Given the description of an element on the screen output the (x, y) to click on. 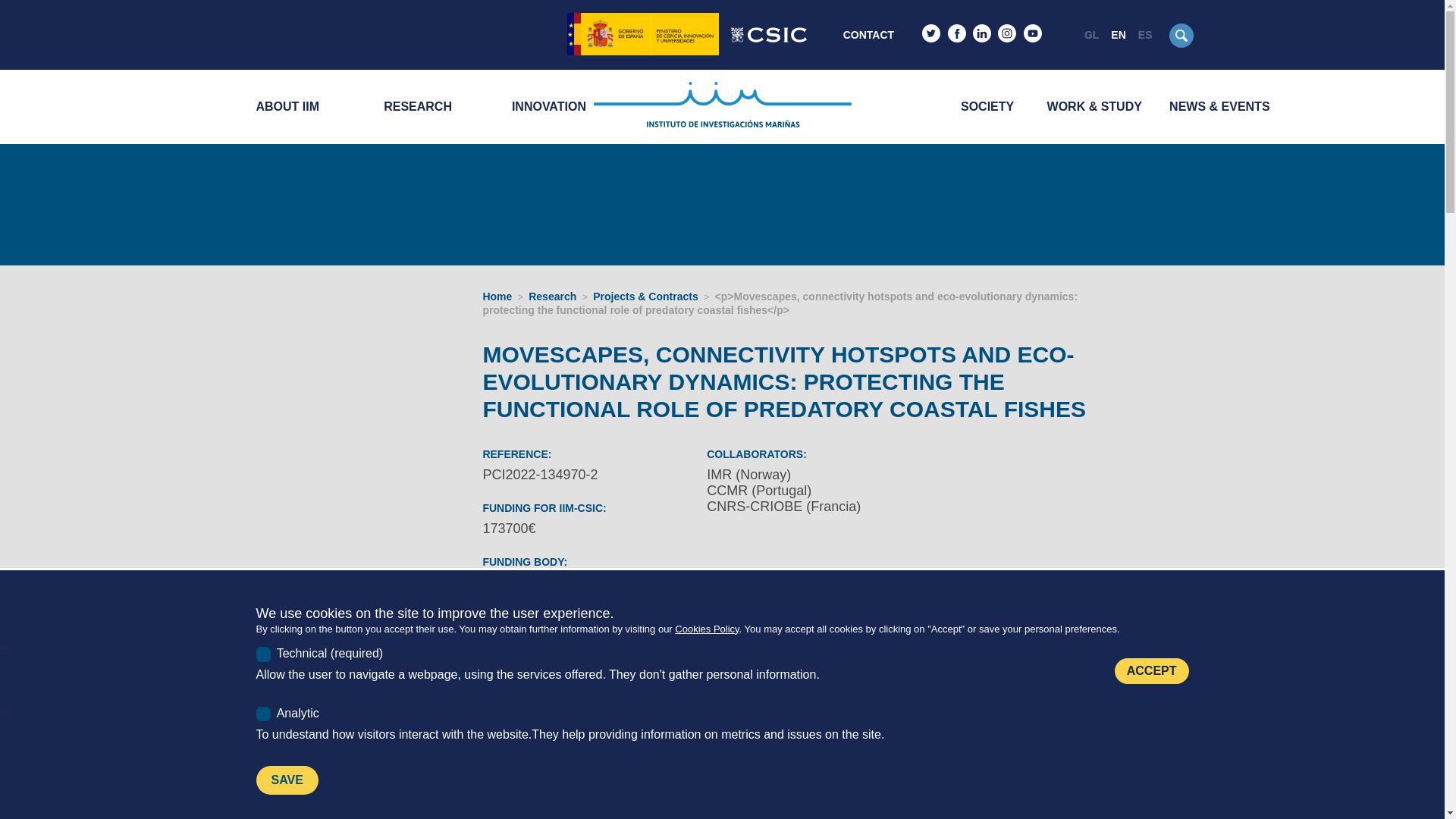
tecnicas (5, 651)
analiticas (5, 710)
